Given the description of an element on the screen output the (x, y) to click on. 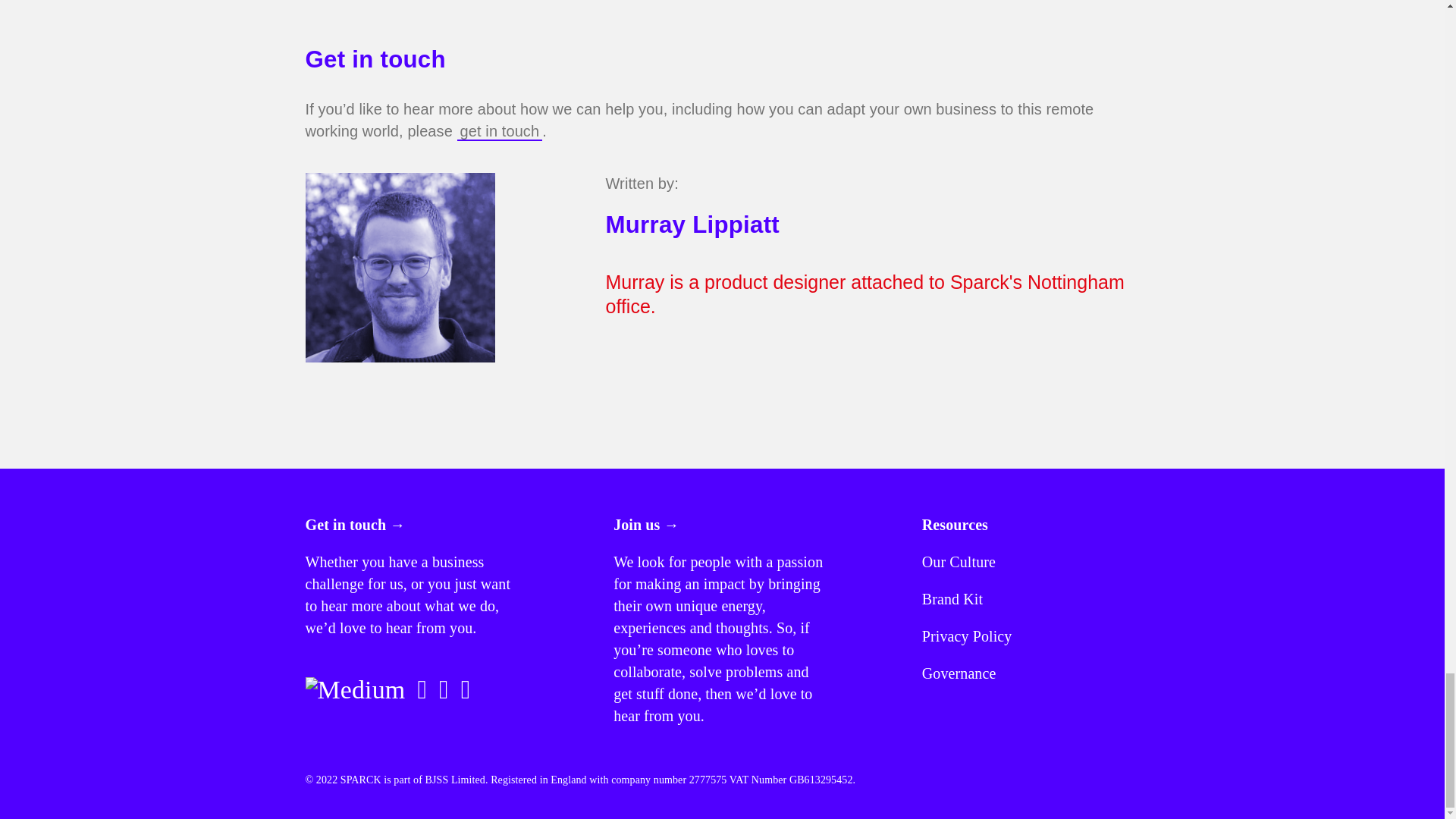
Privacy Policy (966, 636)
get in touch (500, 131)
Our Culture (958, 561)
Resources (954, 524)
Brand Kit (951, 598)
Governance (958, 673)
